Given the description of an element on the screen output the (x, y) to click on. 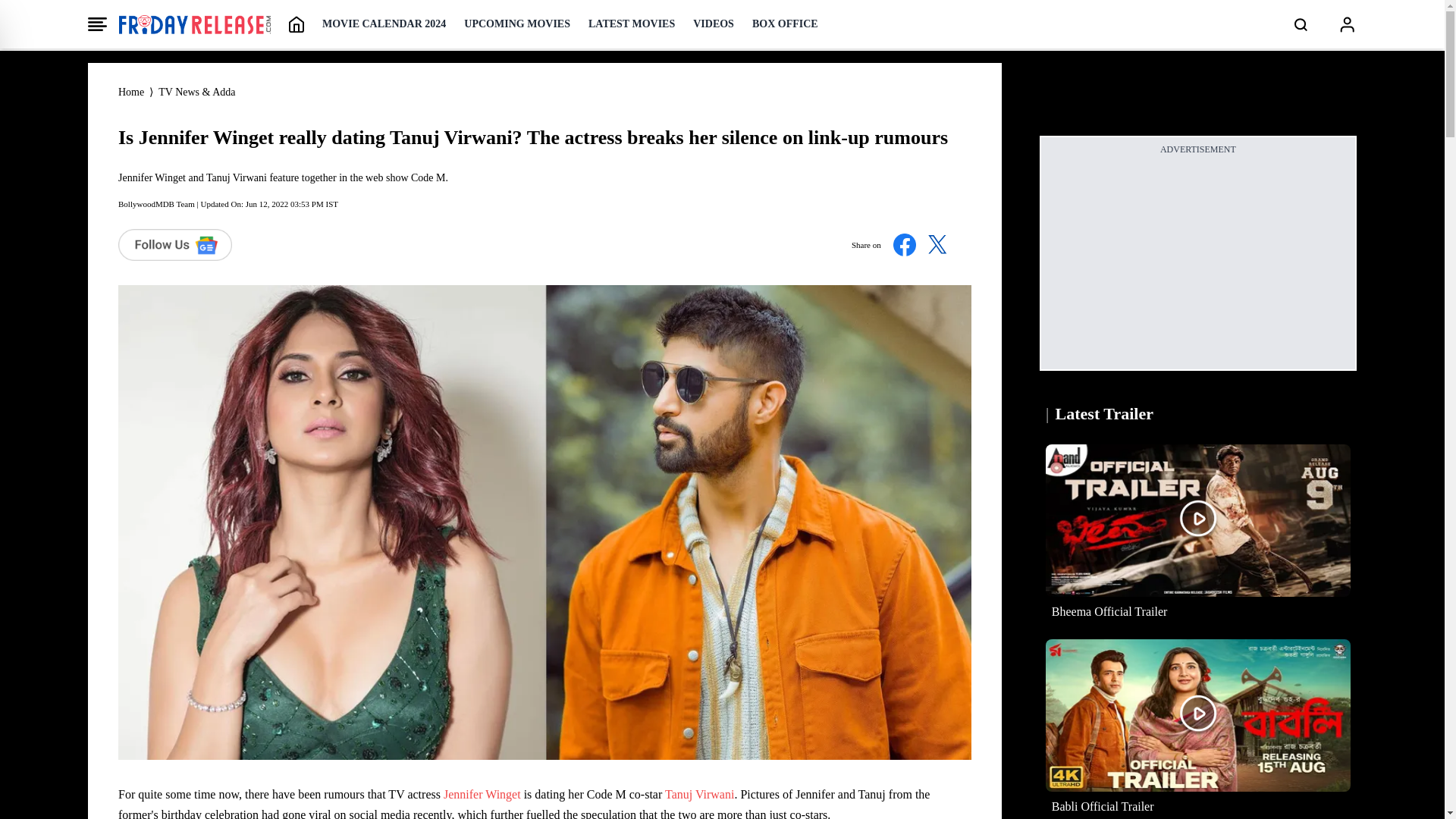
MOVIE CALENDAR 2024 (383, 23)
UPCOMING MOVIES (517, 23)
BOX OFFICE (785, 23)
LATEST MOVIES (631, 23)
Share on (905, 244)
VIDEOS (713, 23)
